Given the description of an element on the screen output the (x, y) to click on. 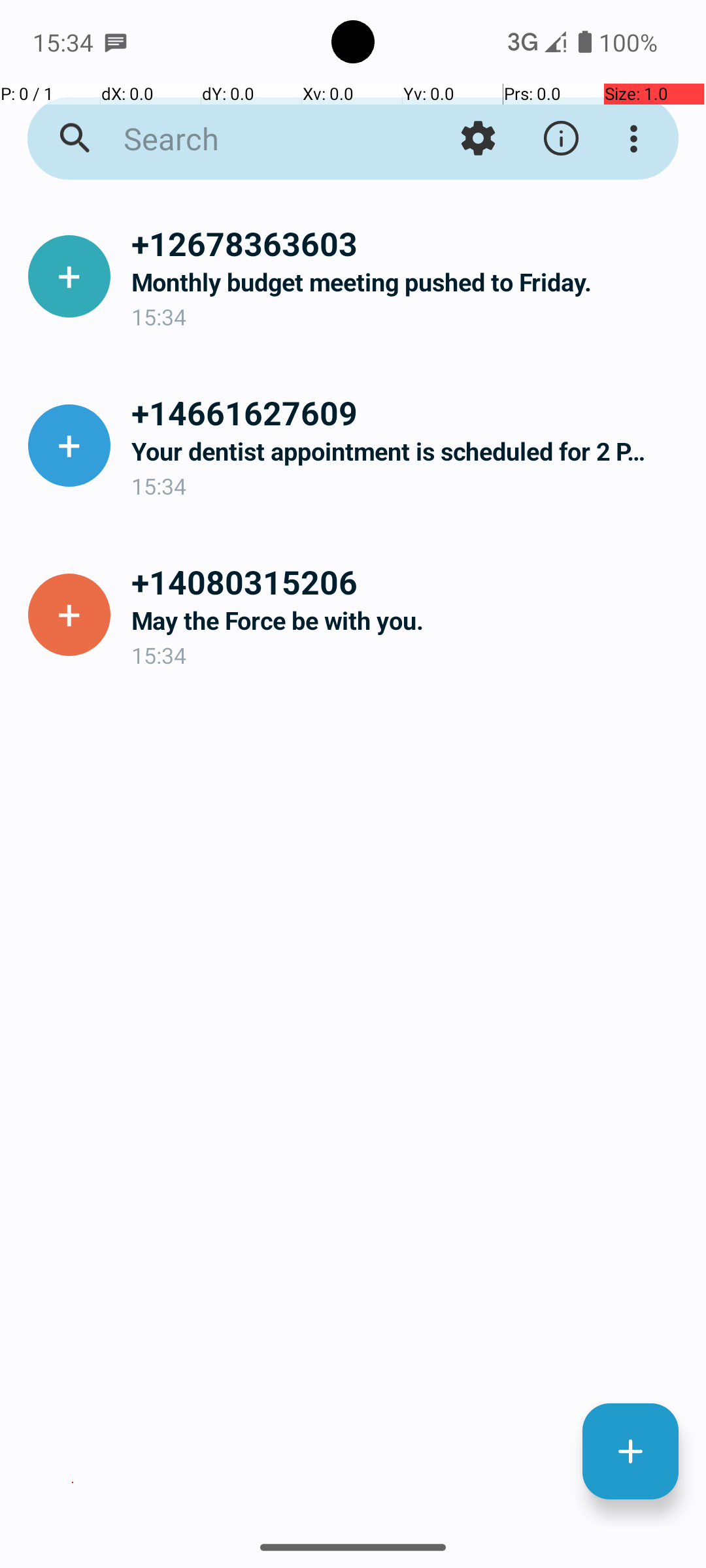
+12678363603 Element type: android.widget.TextView (408, 242)
Monthly budget meeting pushed to Friday. Element type: android.widget.TextView (408, 281)
+14661627609 Element type: android.widget.TextView (408, 412)
Your dentist appointment is scheduled for 2 PM on Thursday. Element type: android.widget.TextView (408, 450)
+14080315206 Element type: android.widget.TextView (408, 581)
May the Force be with you. Element type: android.widget.TextView (408, 620)
